Given the description of an element on the screen output the (x, y) to click on. 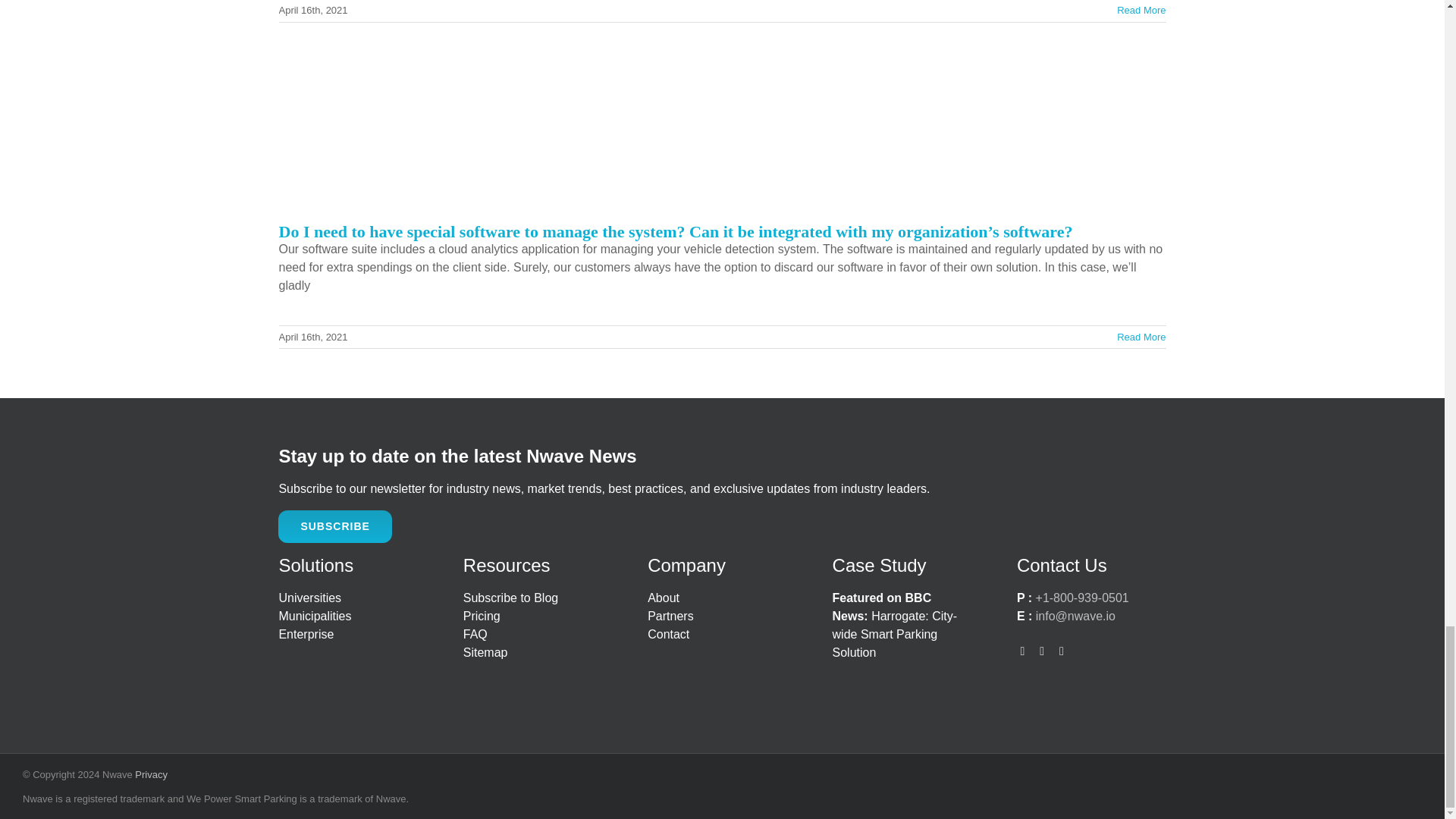
Universities (353, 597)
About (670, 615)
FAQ (475, 634)
Contact Us (667, 634)
Sitemap (485, 652)
Blog (510, 597)
Municipalities (353, 616)
Harrogate: City-wide Smart Parking Solution (895, 625)
Enterprise (353, 634)
Pricing (481, 615)
